Given the description of an element on the screen output the (x, y) to click on. 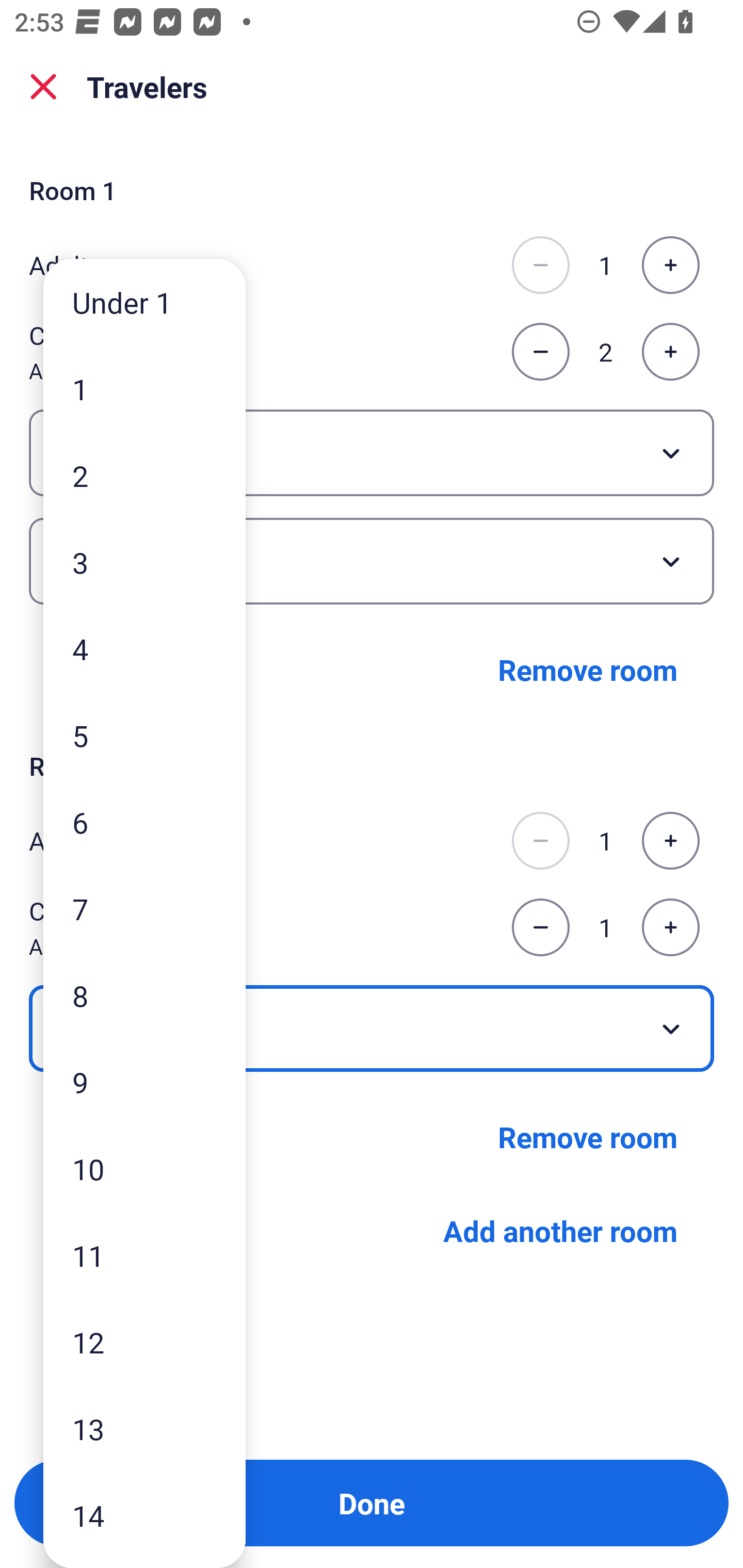
Under 1 (144, 301)
1 (144, 388)
2 (144, 475)
3 (144, 562)
4 (144, 648)
5 (144, 735)
6 (144, 822)
7 (144, 908)
8 (144, 994)
9 (144, 1081)
10 (144, 1168)
11 (144, 1255)
12 (144, 1342)
13 (144, 1429)
14 (144, 1515)
